Given the description of an element on the screen output the (x, y) to click on. 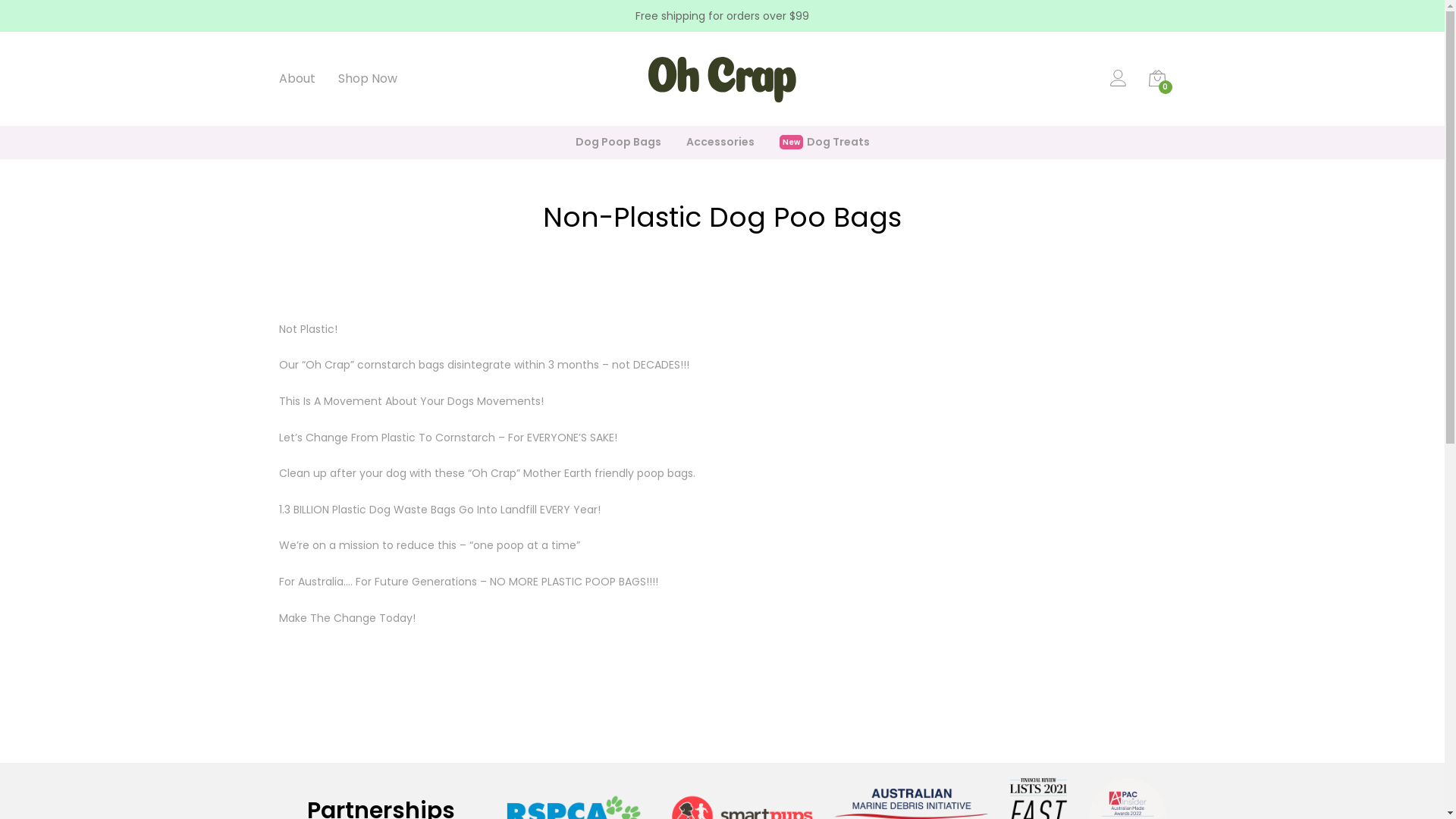
Shop Now Element type: text (367, 78)
0 Element type: text (1157, 81)
Accessories Element type: text (719, 142)
About Element type: text (297, 78)
New Dog Treats Element type: text (824, 142)
Dog Poop Bags Element type: text (617, 142)
